Given the description of an element on the screen output the (x, y) to click on. 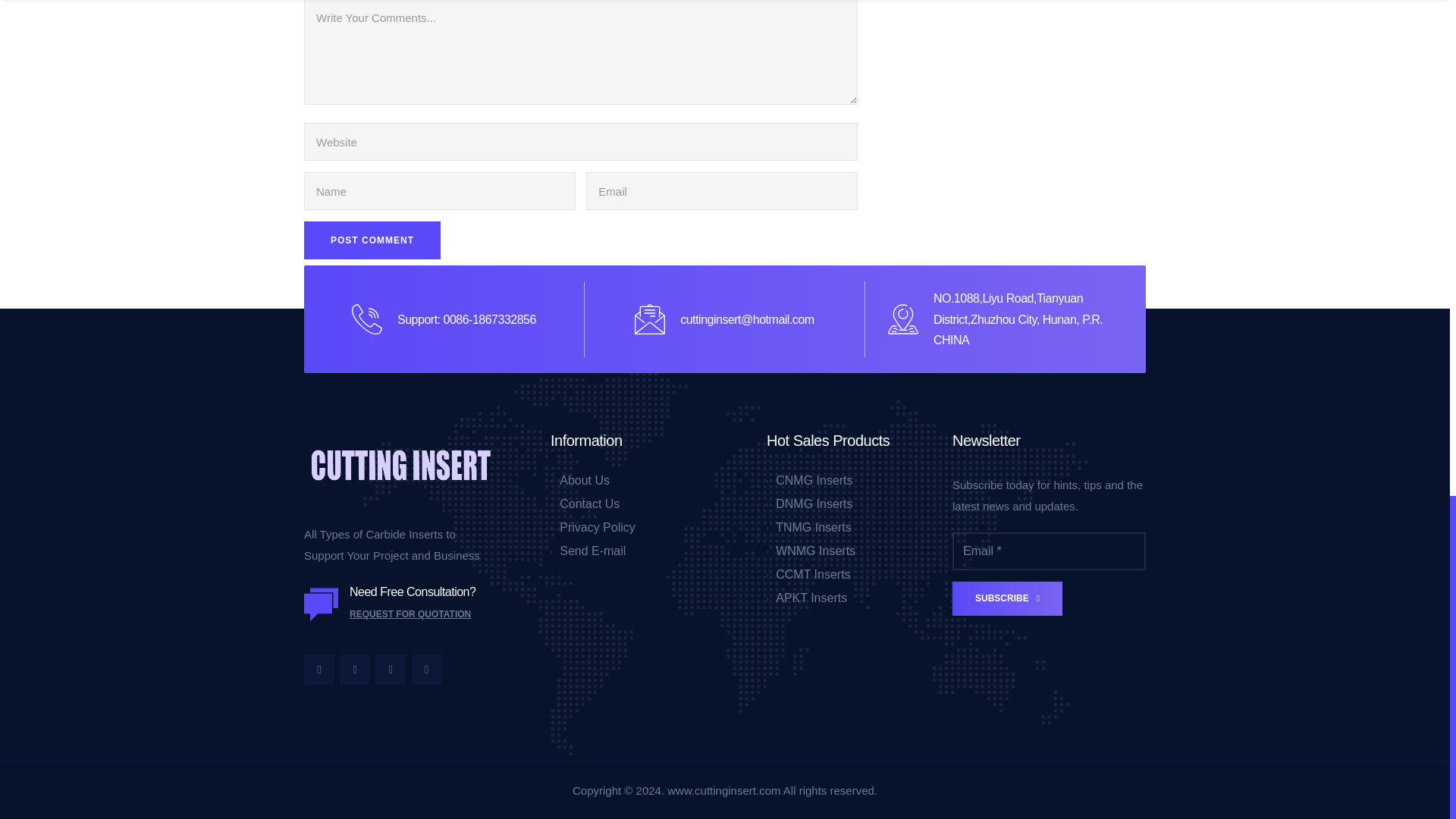
Post Comment (372, 240)
